Given the description of an element on the screen output the (x, y) to click on. 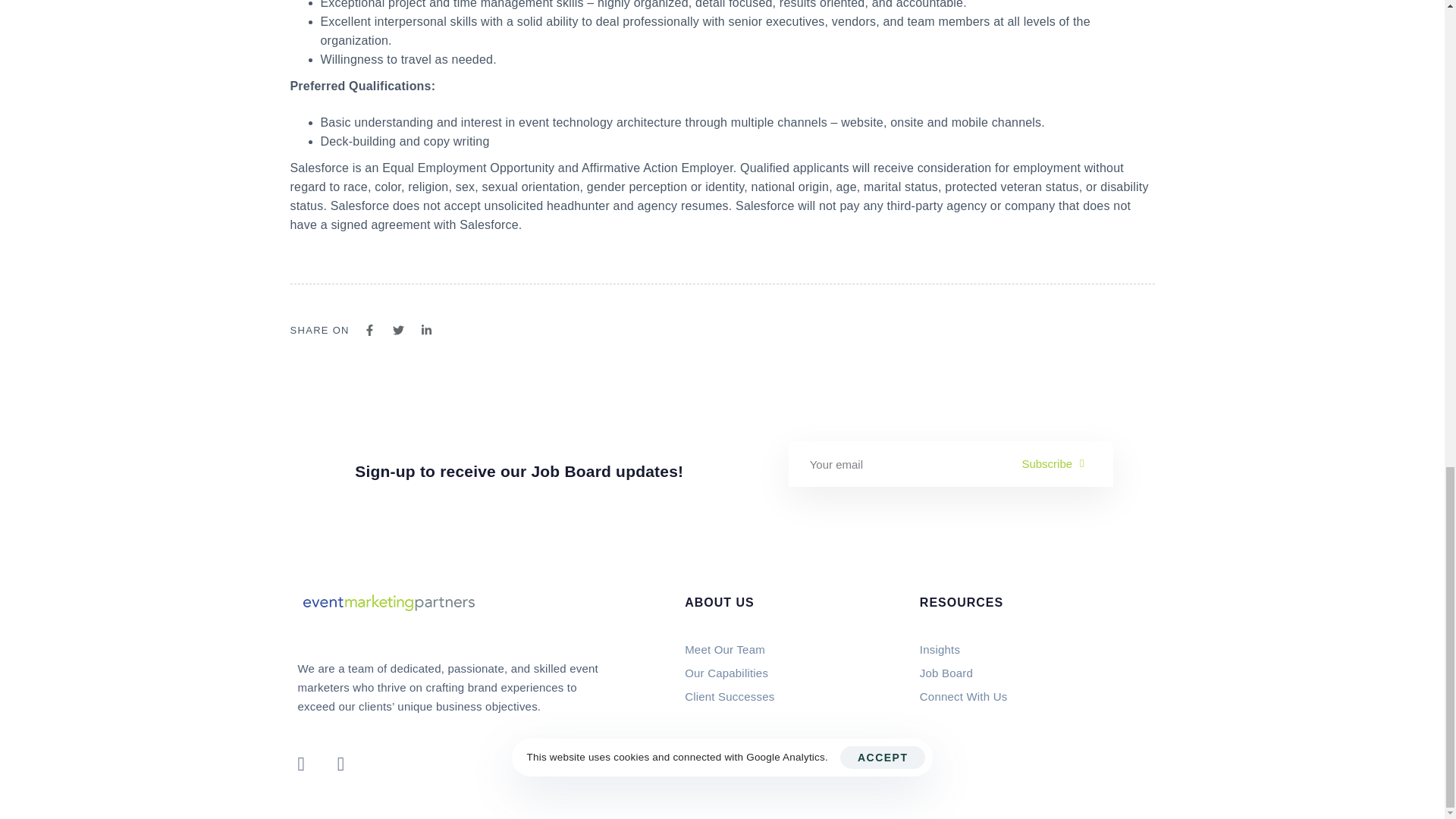
Subscribe (1062, 463)
